Given the description of an element on the screen output the (x, y) to click on. 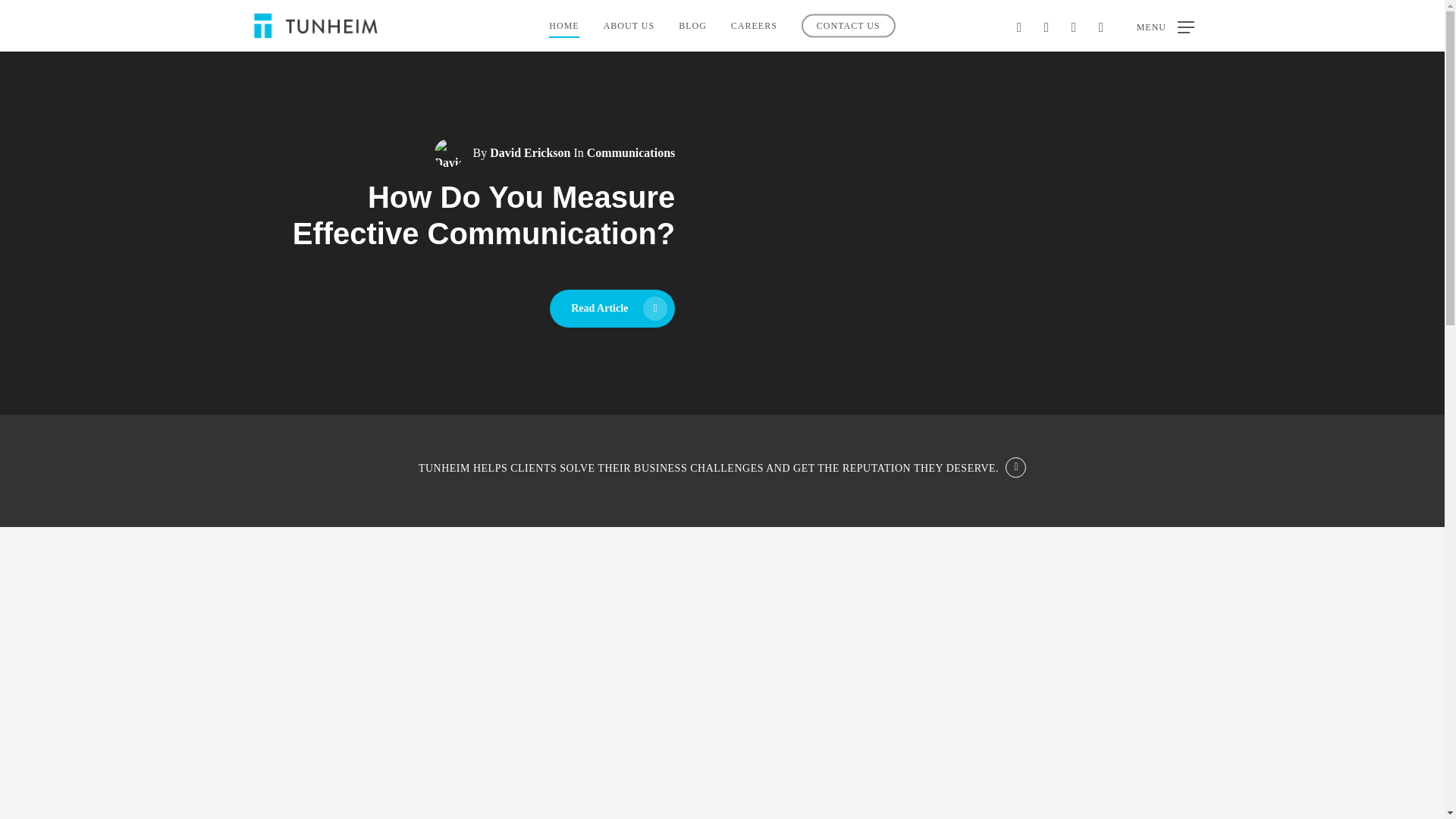
CAREERS (753, 26)
CONTACT US (848, 26)
BLOG (692, 26)
HOME (563, 26)
ABOUT US (628, 26)
Read Article (612, 308)
MENU (1165, 25)
David Erickson (529, 152)
Communications (630, 152)
